Given the description of an element on the screen output the (x, y) to click on. 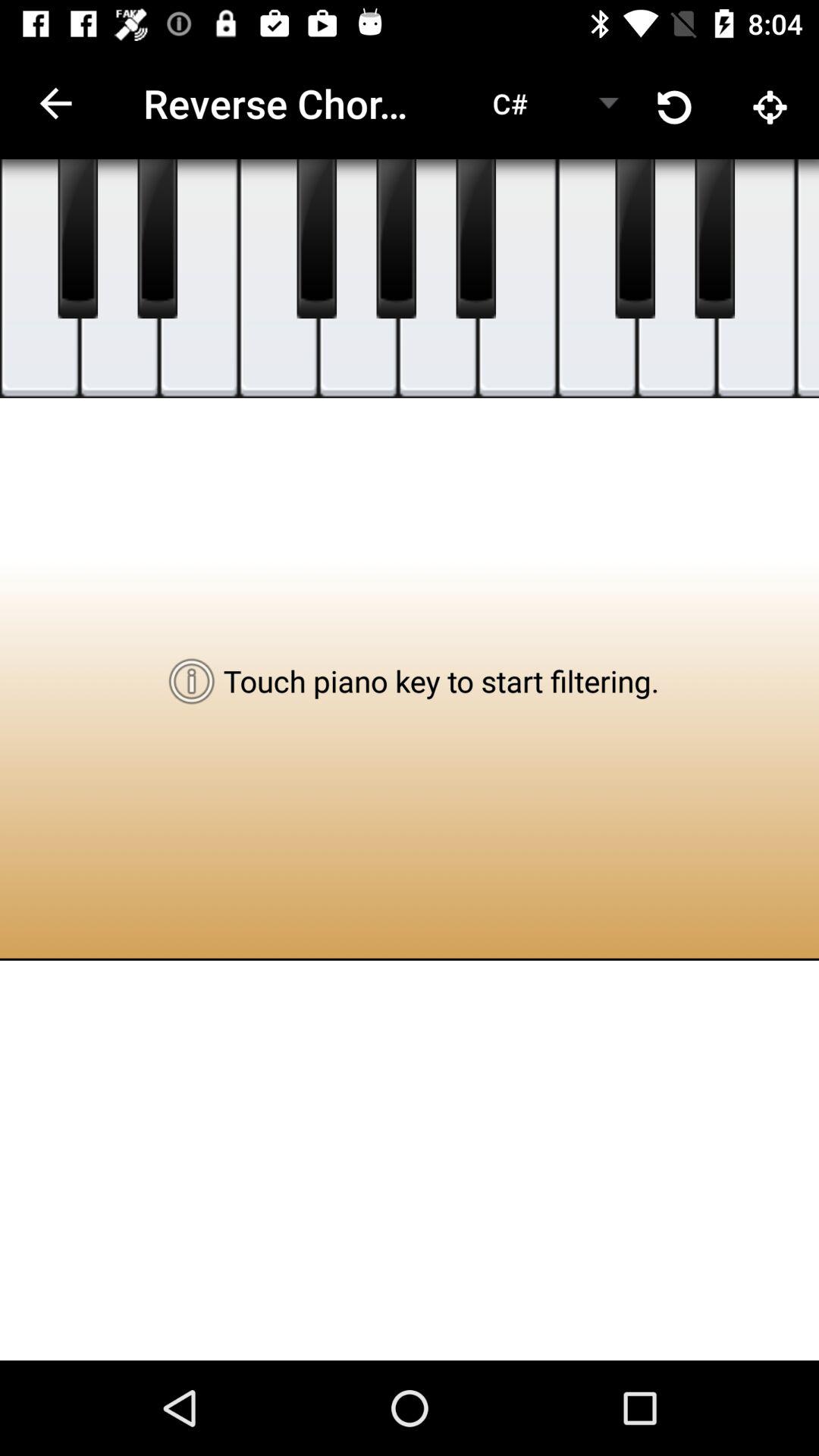
select piano key (278, 278)
